Given the description of an element on the screen output the (x, y) to click on. 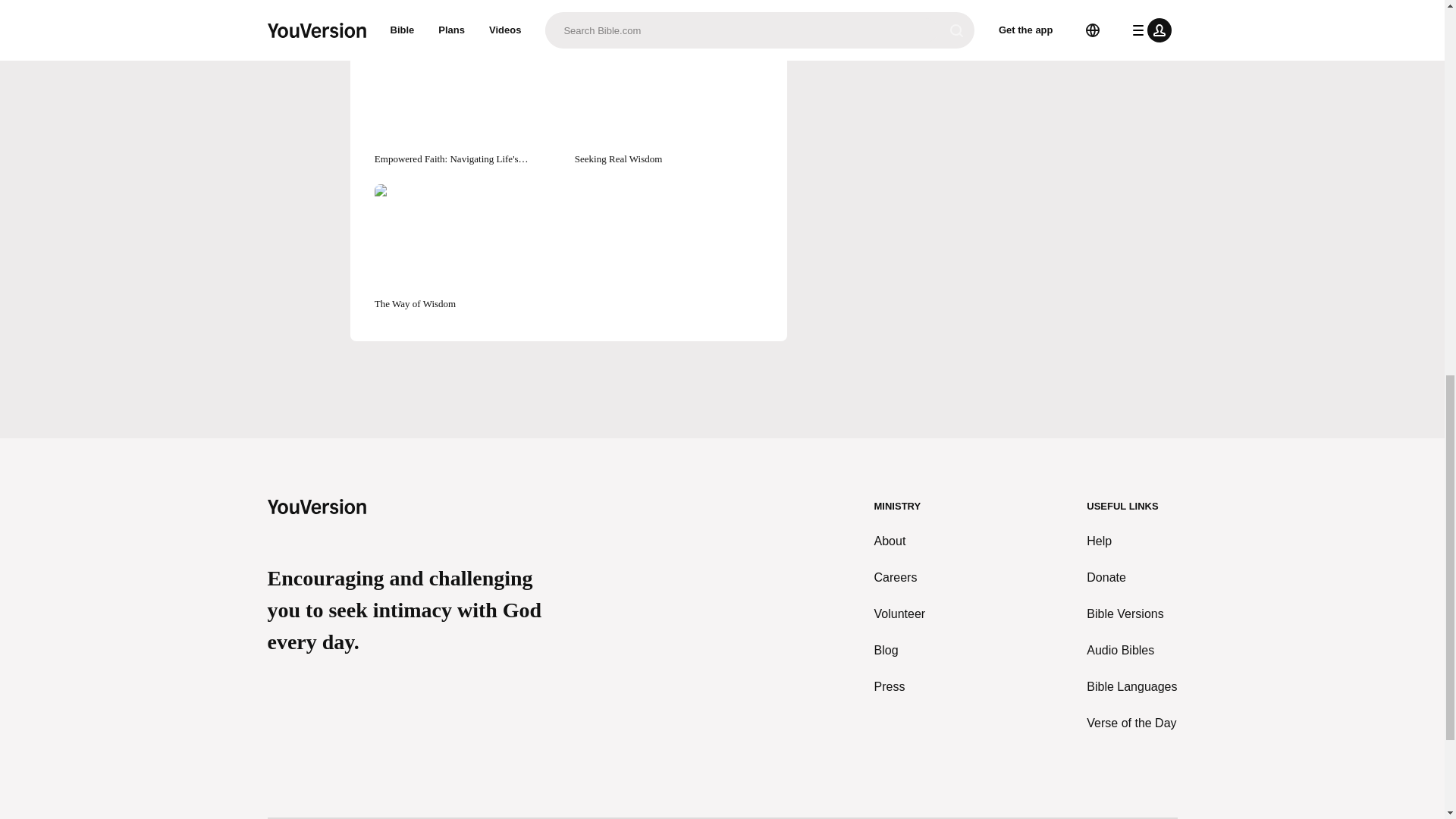
Help (1131, 541)
Press (900, 687)
Bible Versions (1131, 614)
Bible Languages (1131, 687)
Blog (900, 650)
Seeking Real Wisdom (668, 102)
About (900, 541)
Volunteer (900, 614)
The Way of Wisdom (468, 247)
Verse of the Day (1131, 723)
